Given the description of an element on the screen output the (x, y) to click on. 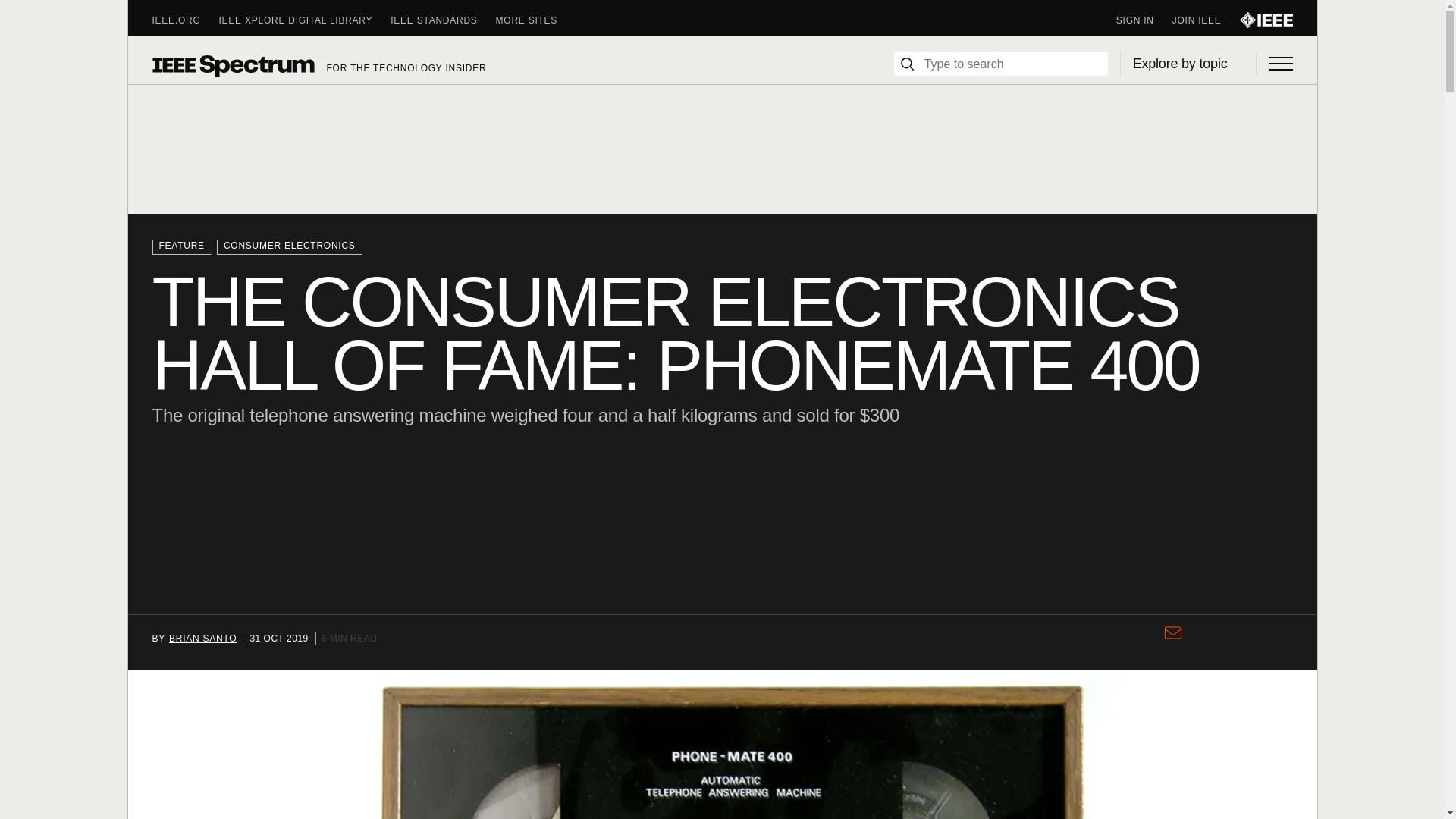
SIGN IN (1144, 20)
Copy this link to clipboard (1199, 640)
Search (907, 63)
IEEE STANDARDS (442, 20)
Spectrum Logo (232, 64)
MORE SITES (536, 20)
JOIN IEEE (1206, 20)
IEEE.ORG (184, 20)
IEEE XPLORE DIGITAL LIBRARY (305, 20)
